Given the description of an element on the screen output the (x, y) to click on. 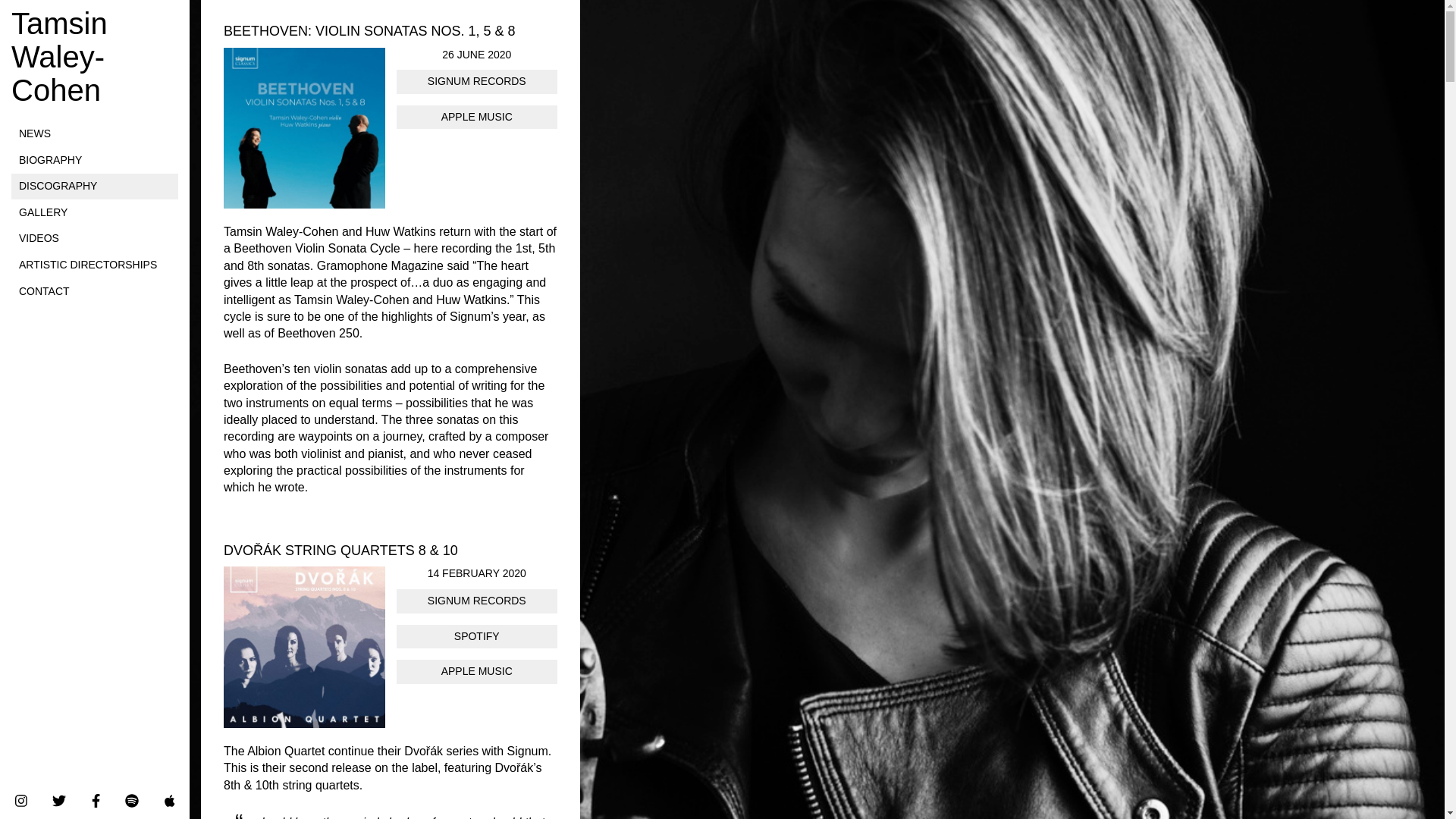
SIGNUM RECORDS (476, 600)
DISCOGRAPHY (94, 186)
APPLE MUSIC (476, 117)
SIGNUM RECORDS (476, 81)
SPOTIFY (476, 636)
APPLE MUSIC (476, 671)
GALLERY (94, 212)
CONTACT (94, 291)
VIDEOS (94, 238)
ARTISTIC DIRECTORSHIPS (94, 265)
NEWS (94, 134)
Tamsin Waley-Cohen (94, 56)
BIOGRAPHY (94, 160)
